Given the description of an element on the screen output the (x, y) to click on. 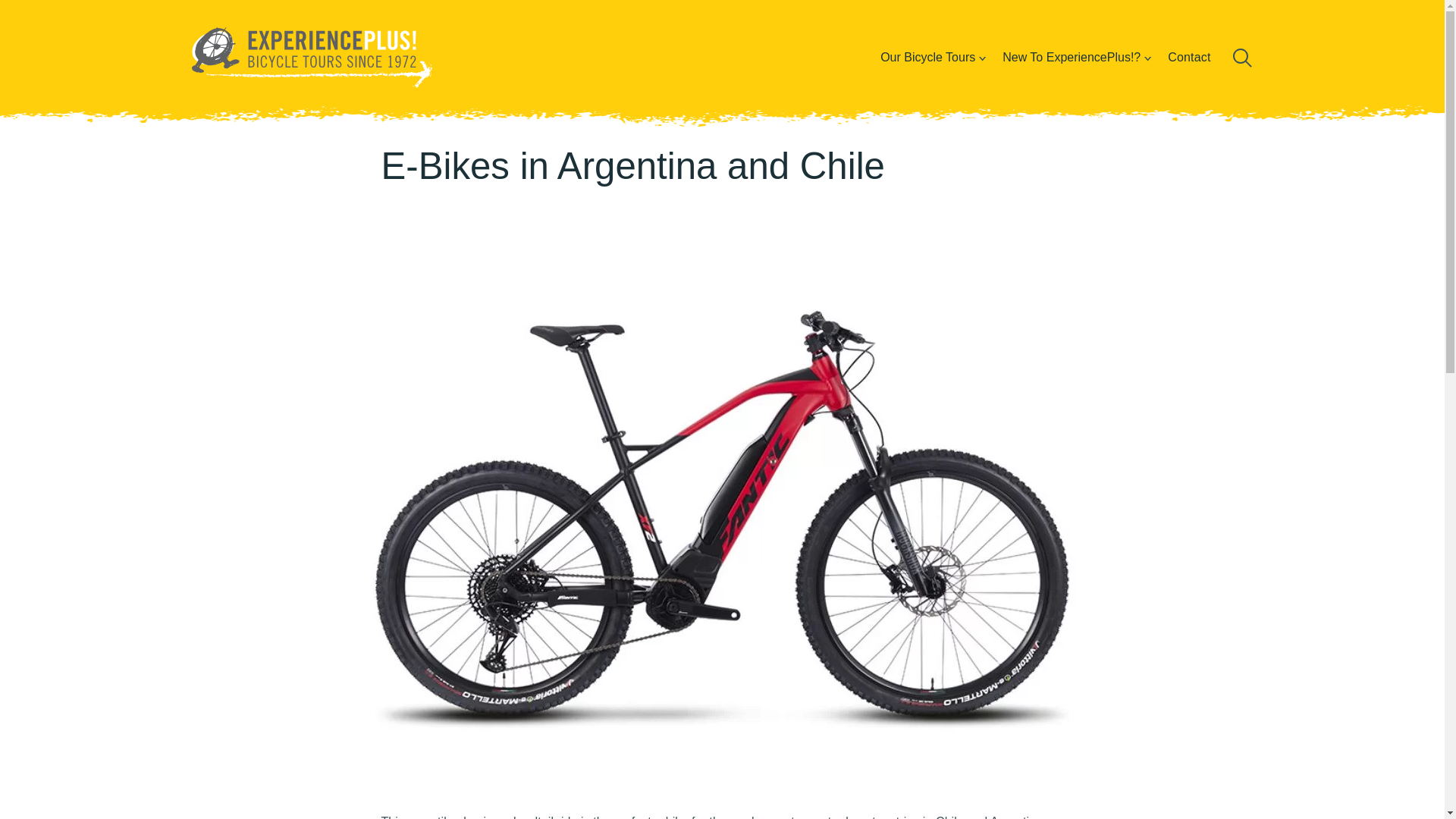
Contact (1188, 57)
New To ExperiencePlus!? (1071, 56)
Our Bicycle Tours (927, 56)
